Given the description of an element on the screen output the (x, y) to click on. 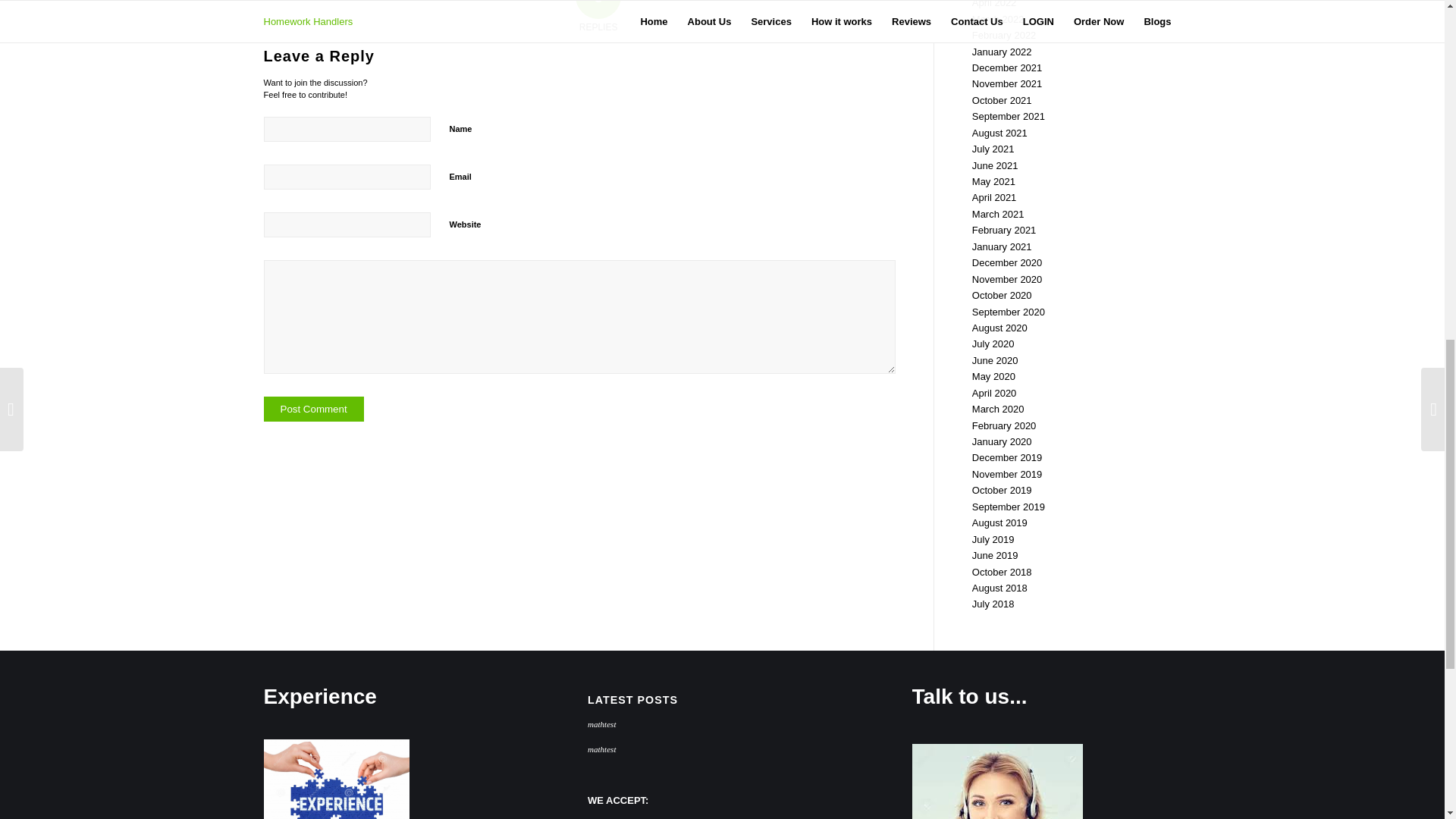
Post Comment (313, 408)
Post Comment (313, 408)
